Given the description of an element on the screen output the (x, y) to click on. 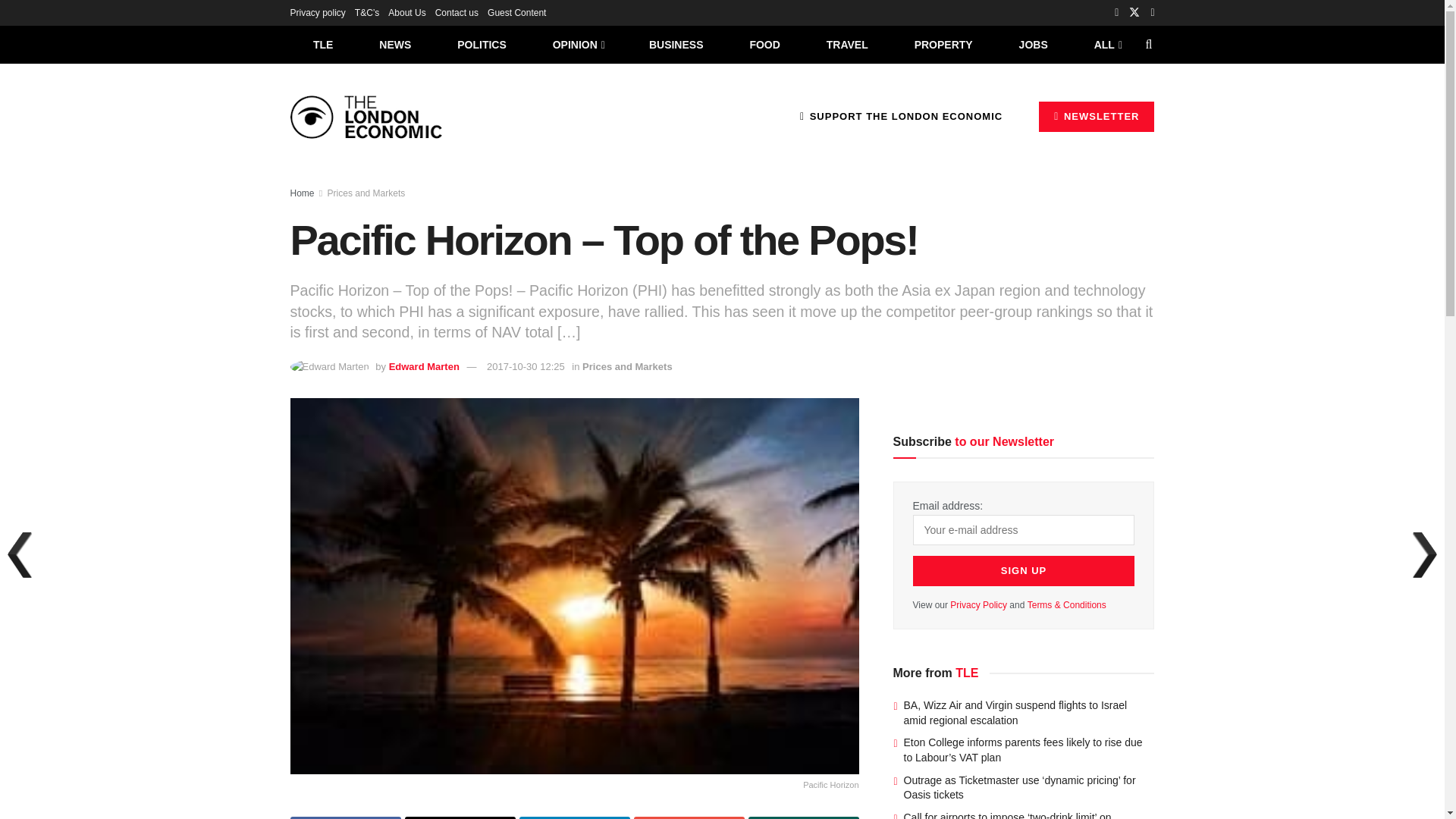
NEWSLETTER (1096, 116)
Home (301, 193)
Contact us (457, 12)
ALL (1106, 44)
FOOD (764, 44)
OPINION (577, 44)
Sign up (1023, 571)
POLITICS (481, 44)
JOBS (1032, 44)
Guest Content (516, 12)
